Given the description of an element on the screen output the (x, y) to click on. 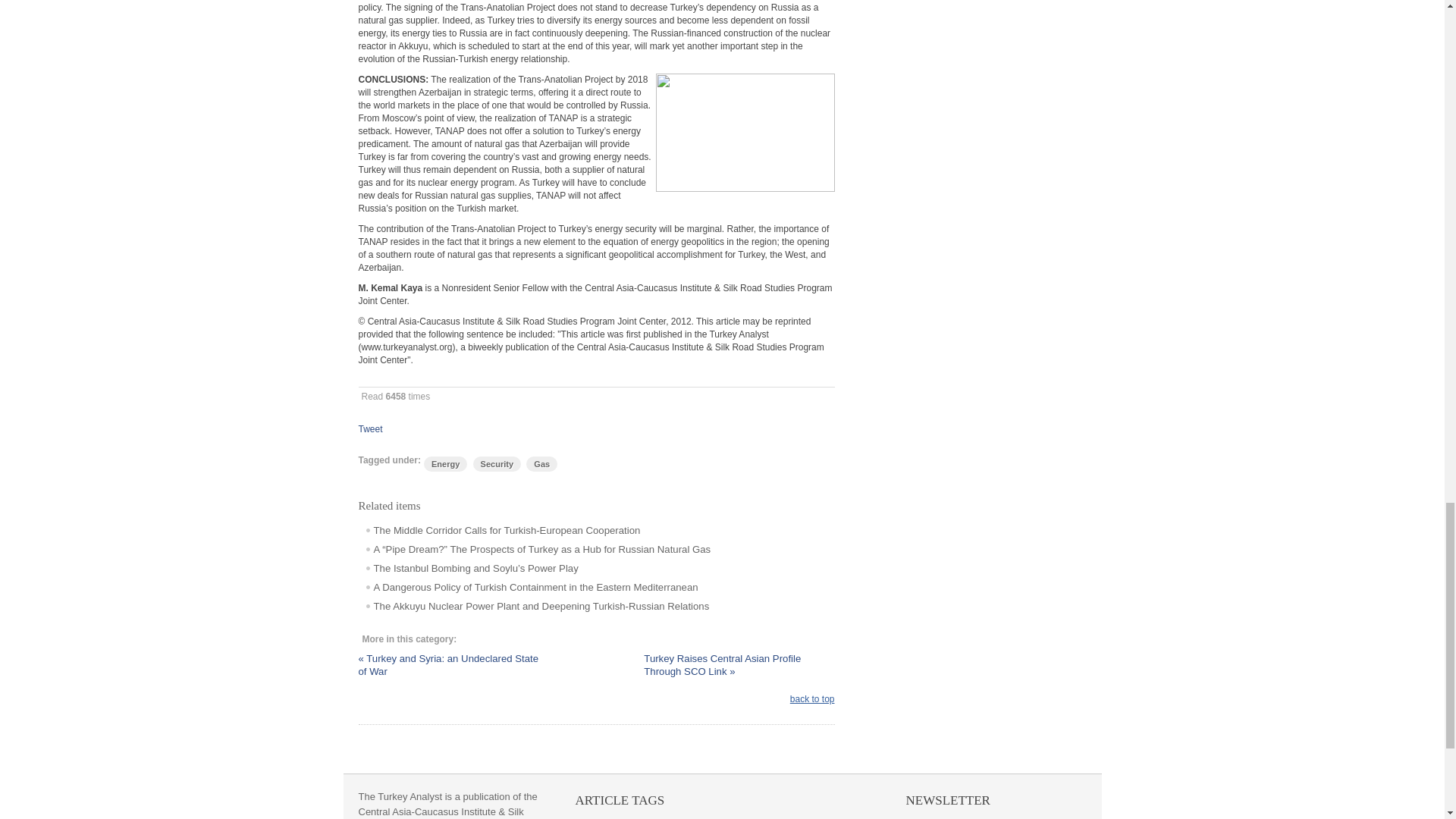
Security (497, 463)
Gas (541, 463)
Tweet (369, 429)
The Middle Corridor Calls for Turkish-European Cooperation (499, 530)
Energy (445, 463)
back to top (812, 698)
